Given the description of an element on the screen output the (x, y) to click on. 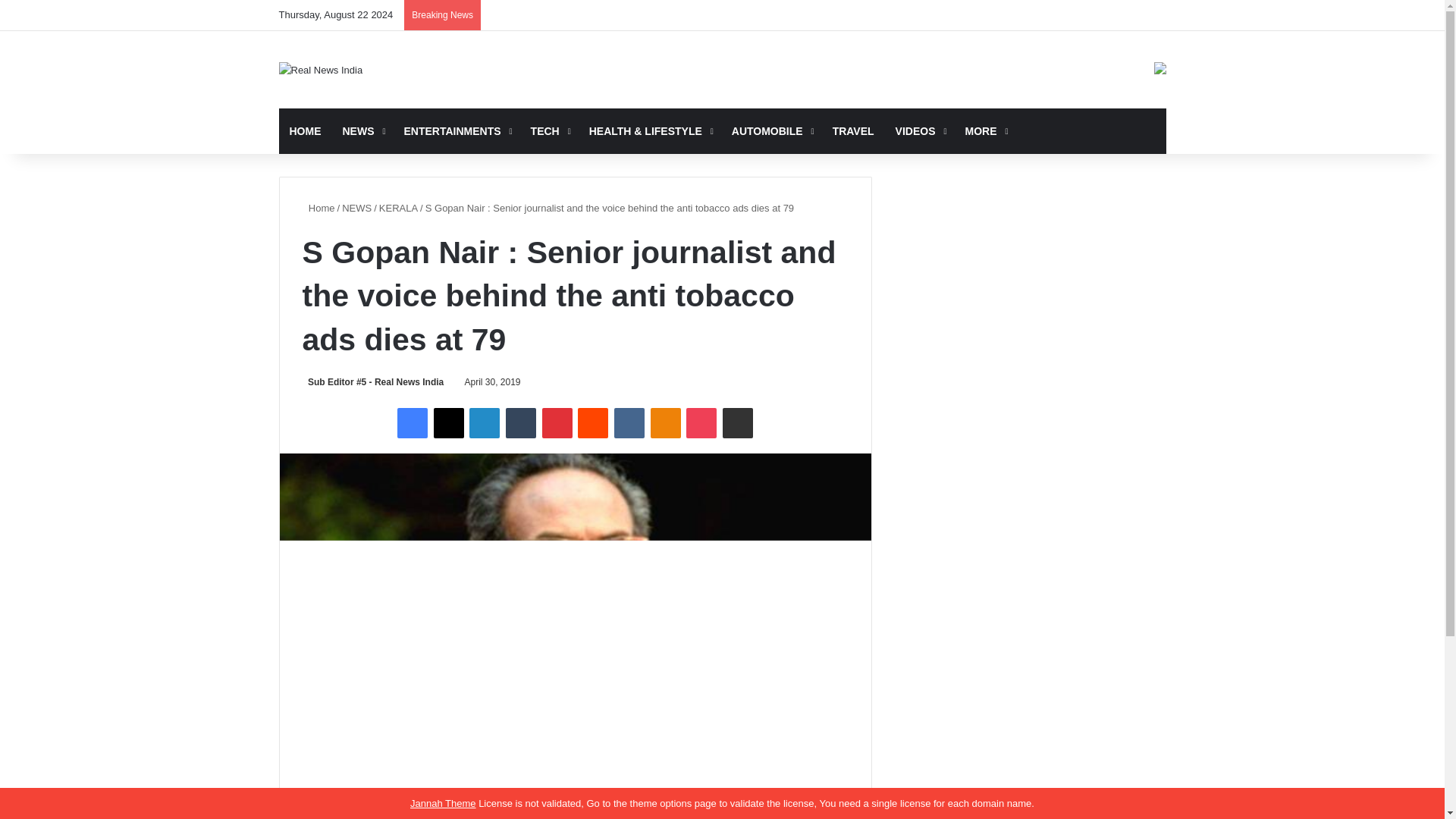
Pocket (700, 422)
X (448, 422)
Reddit (593, 422)
Jannah Theme (443, 803)
Real News India (320, 69)
VKontakte (629, 422)
NEWS (362, 130)
Odnoklassniki (665, 422)
Pinterest (556, 422)
HOME (305, 130)
